Given the description of an element on the screen output the (x, y) to click on. 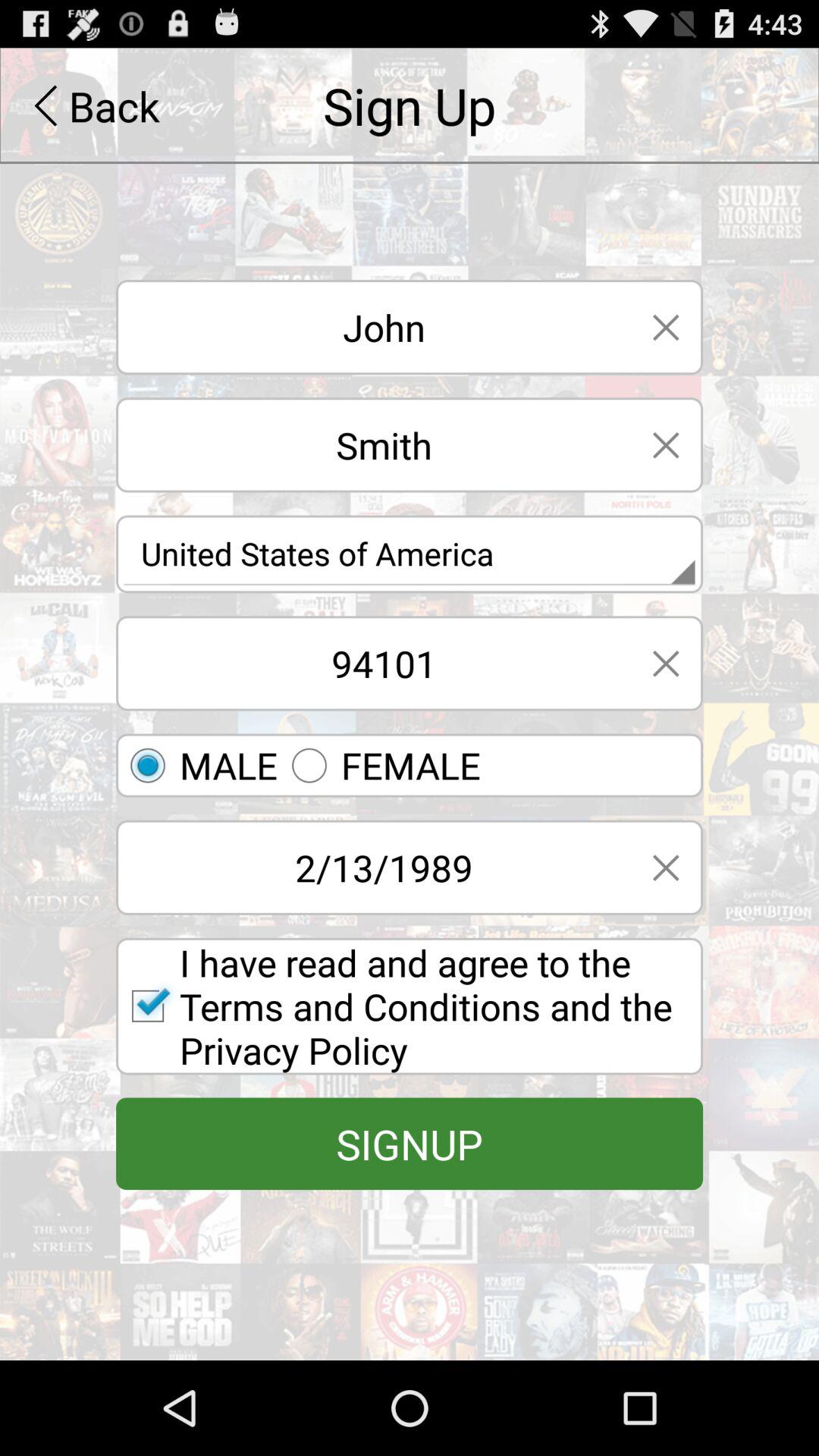
delete date of birth (665, 867)
